Given the description of an element on the screen output the (x, y) to click on. 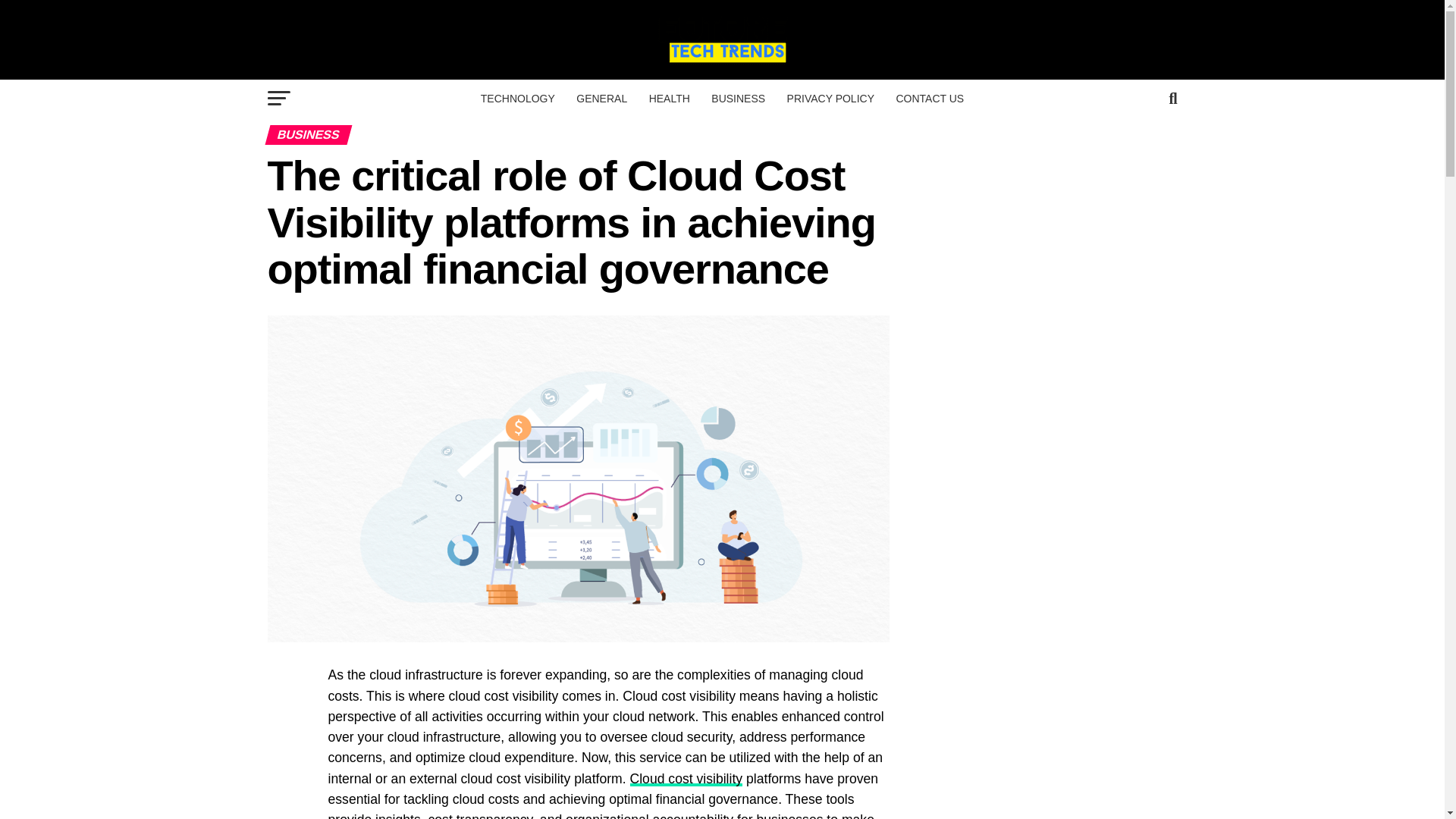
CONTACT US (929, 98)
PRIVACY POLICY (830, 98)
GENERAL (601, 98)
BUSINESS (737, 98)
HEALTH (669, 98)
Cloud cost visibility (685, 778)
TECHNOLOGY (517, 98)
